Given the description of an element on the screen output the (x, y) to click on. 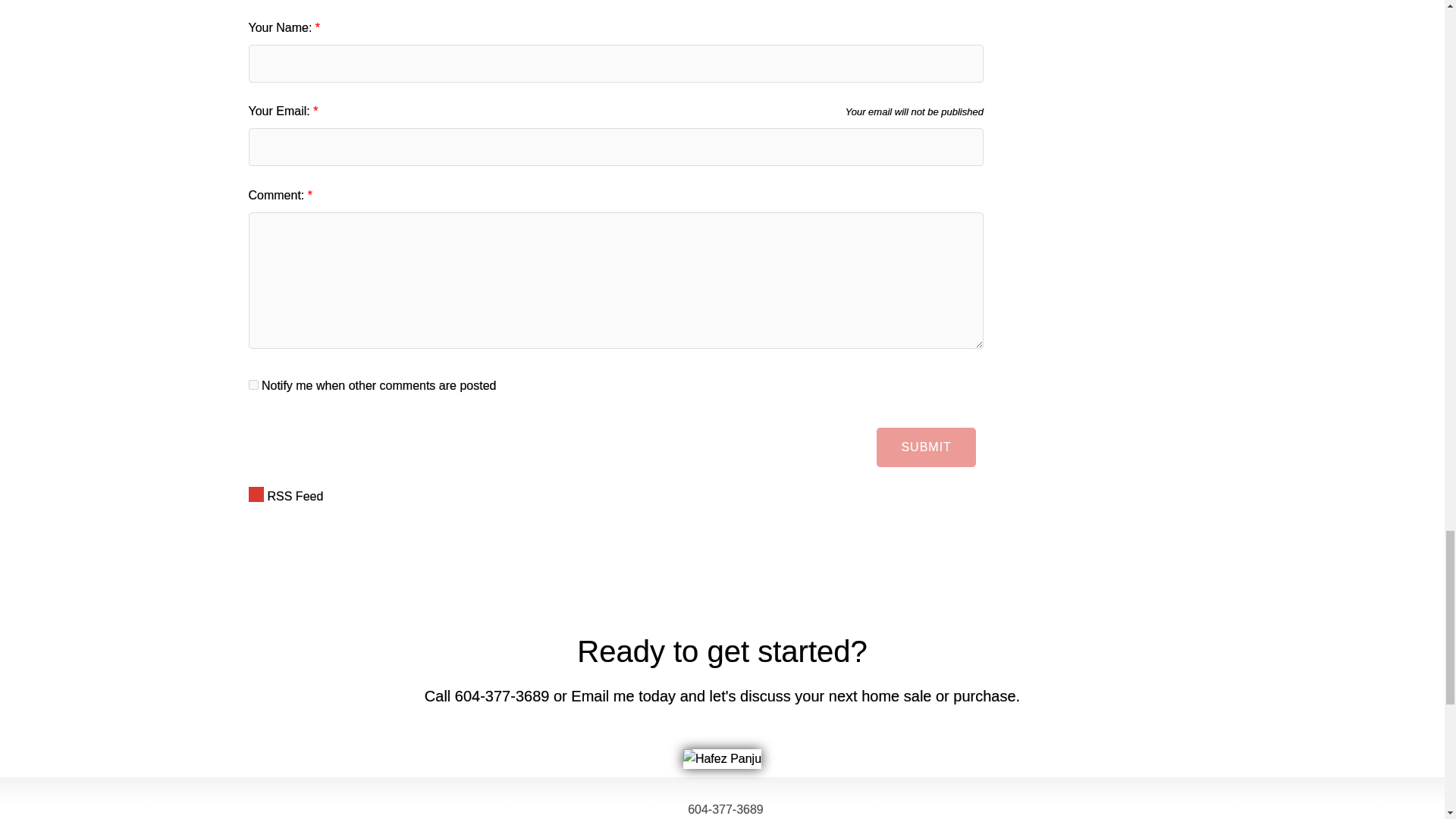
Notify me when other comments are posted (253, 384)
RSS (616, 496)
SUBMIT (925, 446)
